Given the description of an element on the screen output the (x, y) to click on. 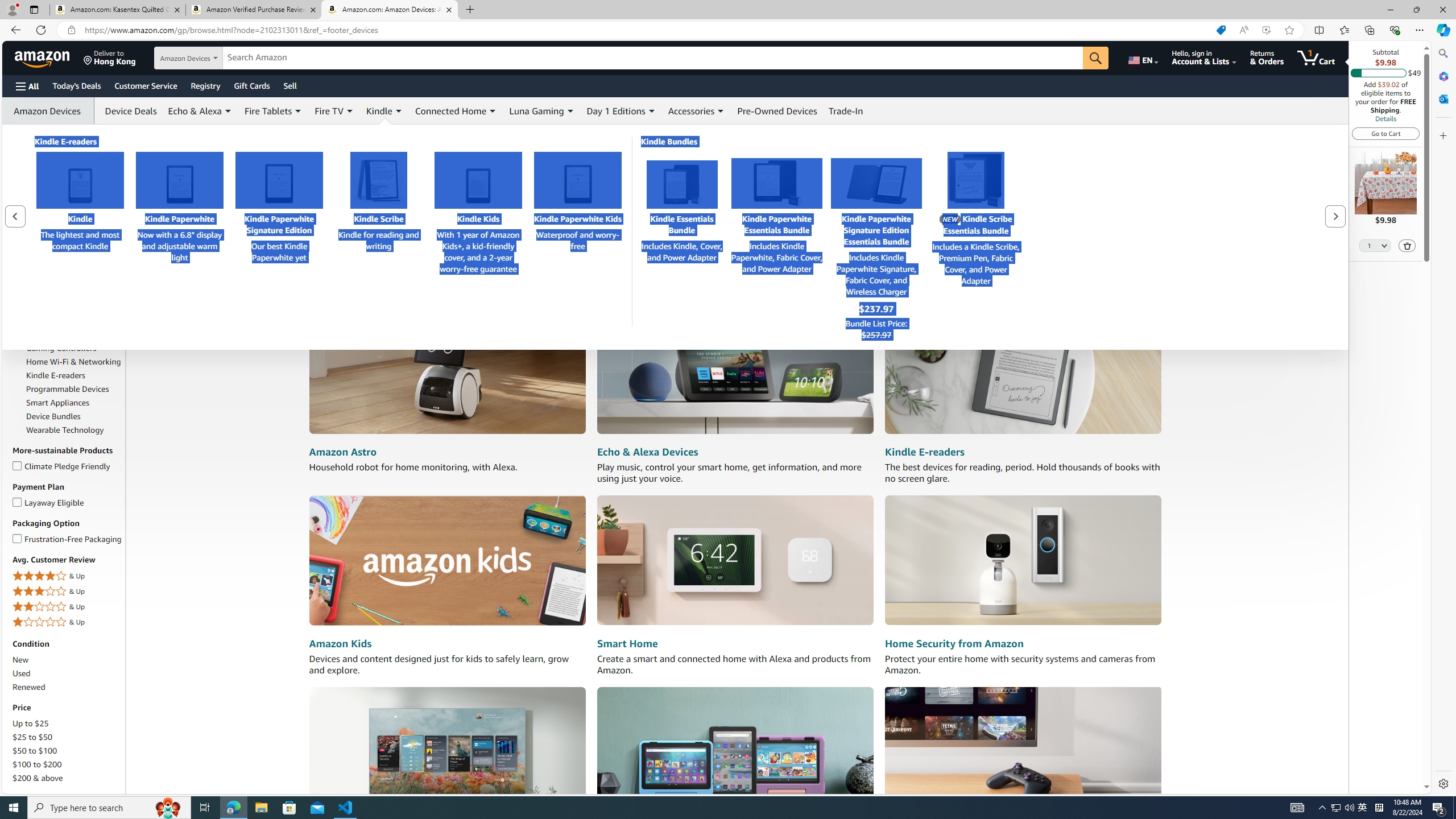
Expand Echo & Alexa (227, 111)
Kindle e-reader devices (1022, 369)
Side bar (1443, 418)
Smart Home Security & Lighting (74, 276)
Shopping in Microsoft Edge (1220, 29)
Kindle Paperwhite Signature Edition Essentials Bundle (876, 183)
1 item in cart (1315, 57)
Gaming Controllers (74, 347)
